Given the description of an element on the screen output the (x, y) to click on. 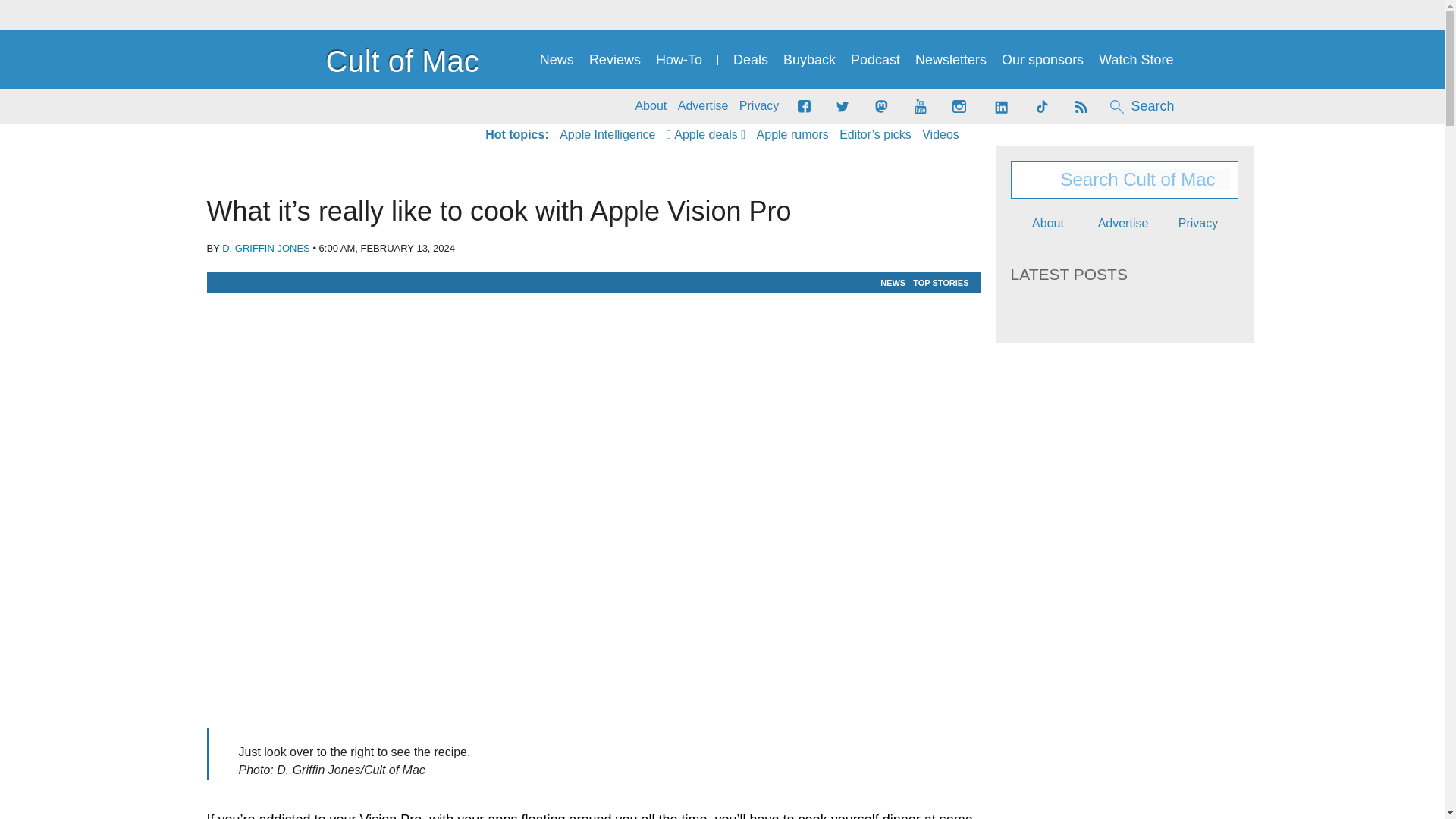
Our sponsors (1042, 59)
About (650, 105)
Videos (940, 134)
Watch Store (1135, 59)
Posts by D. Griffin Jones (266, 247)
How-To (678, 59)
Apple rumors (792, 134)
Hot topics: (516, 134)
Apple legal battles (792, 134)
Podcast (875, 59)
Apple Intelligence (607, 134)
Advertise (703, 105)
Videos (940, 134)
Privacy (758, 105)
Reviews (613, 59)
